Given the description of an element on the screen output the (x, y) to click on. 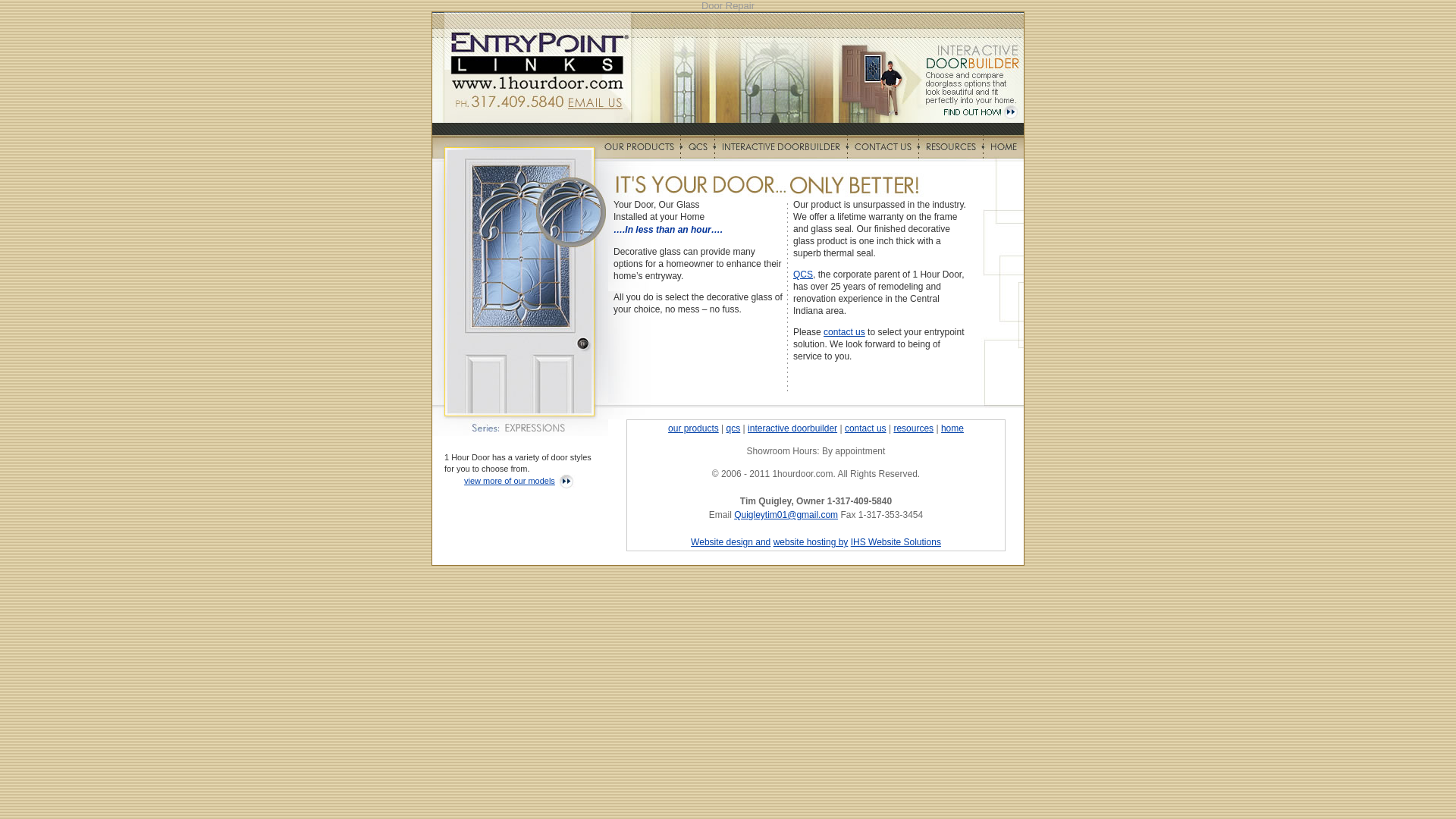
qcs Element type: text (733, 428)
website hosting by Element type: text (810, 541)
view more of our models Element type: text (509, 480)
home Element type: text (952, 428)
resources Element type: text (913, 428)
contact us Element type: text (865, 428)
our products Element type: text (693, 428)
Website design and Element type: text (730, 541)
interactive doorbuilder Element type: text (792, 428)
IHS Website Solutions Element type: text (895, 541)
QCS Element type: text (802, 274)
contact us Element type: text (844, 331)
Quigleytim01@gmail.com Element type: text (785, 514)
